Given the description of an element on the screen output the (x, y) to click on. 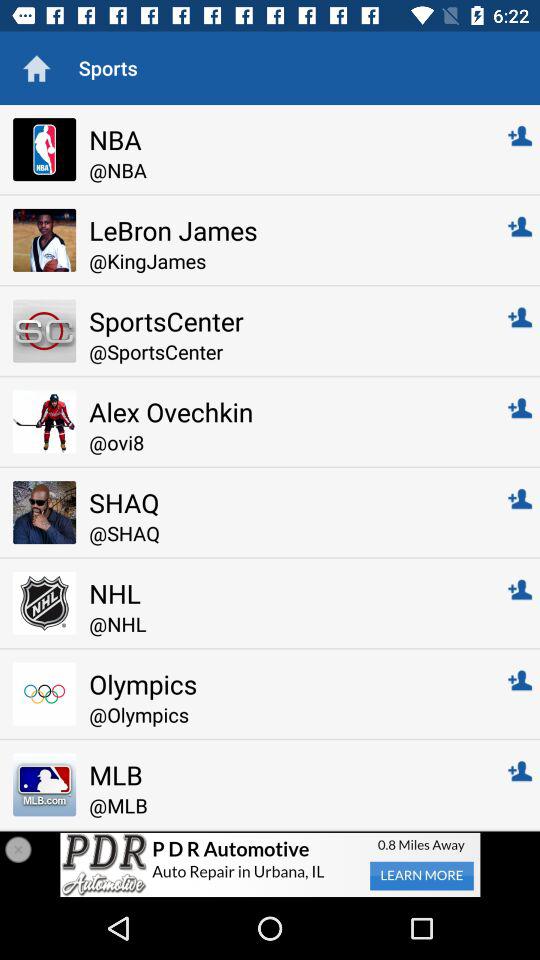
turn off the icon next to sports (36, 68)
